Given the description of an element on the screen output the (x, y) to click on. 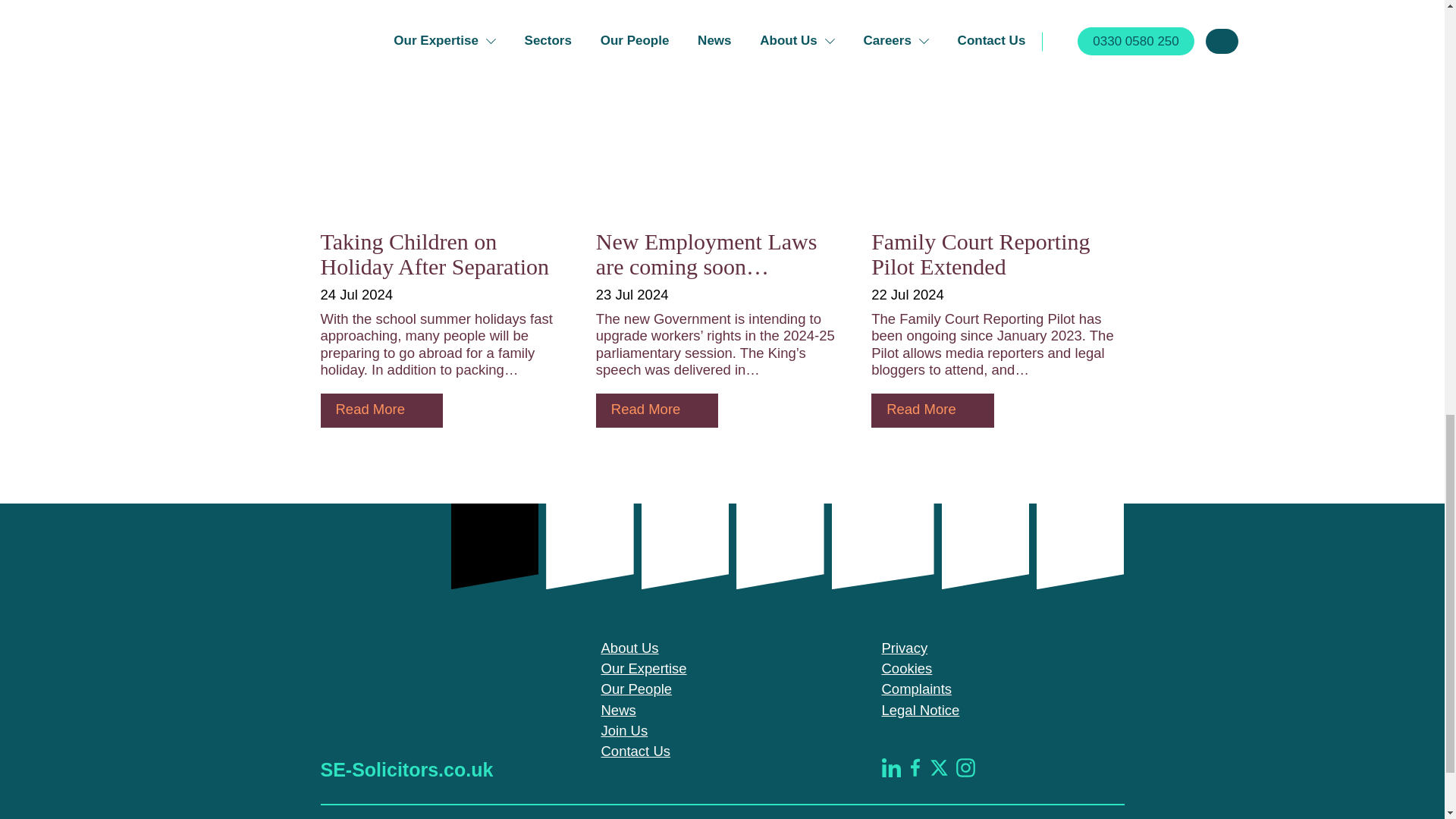
Read More (381, 410)
Read More (657, 410)
